Given the description of an element on the screen output the (x, y) to click on. 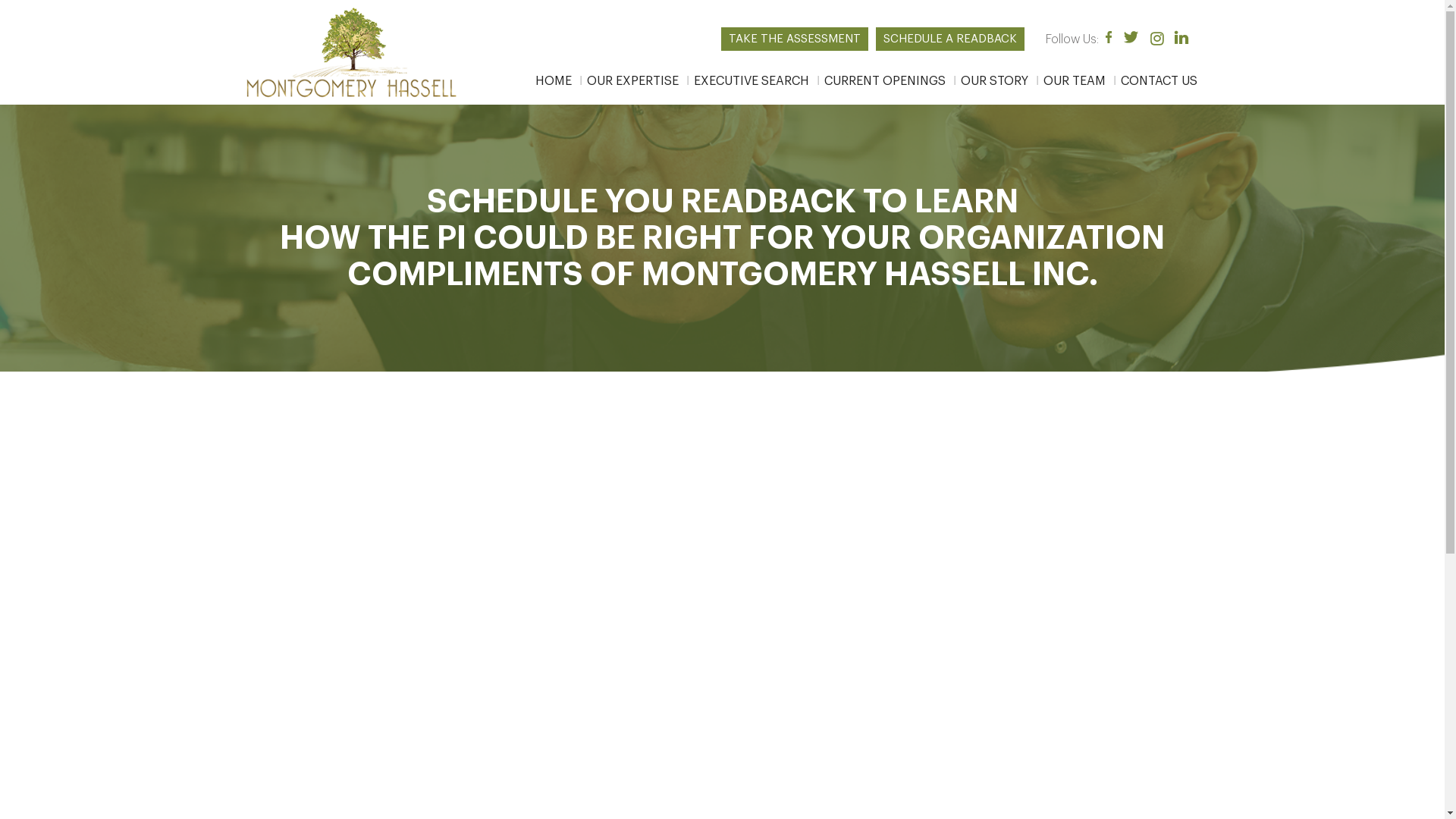
TAKE THE ASSESSMENT Element type: text (794, 38)
HOME Element type: text (553, 81)
OUR STORY Element type: text (999, 81)
CONTACT US Element type: text (1164, 81)
SCHEDULE A READBACK Element type: text (949, 38)
EXECUTIVE SEARCH Element type: text (756, 81)
CURRENT OPENINGS Element type: text (890, 81)
OUR EXPERTISE Element type: text (638, 81)
OUR TEAM Element type: text (1080, 81)
